Given the description of an element on the screen output the (x, y) to click on. 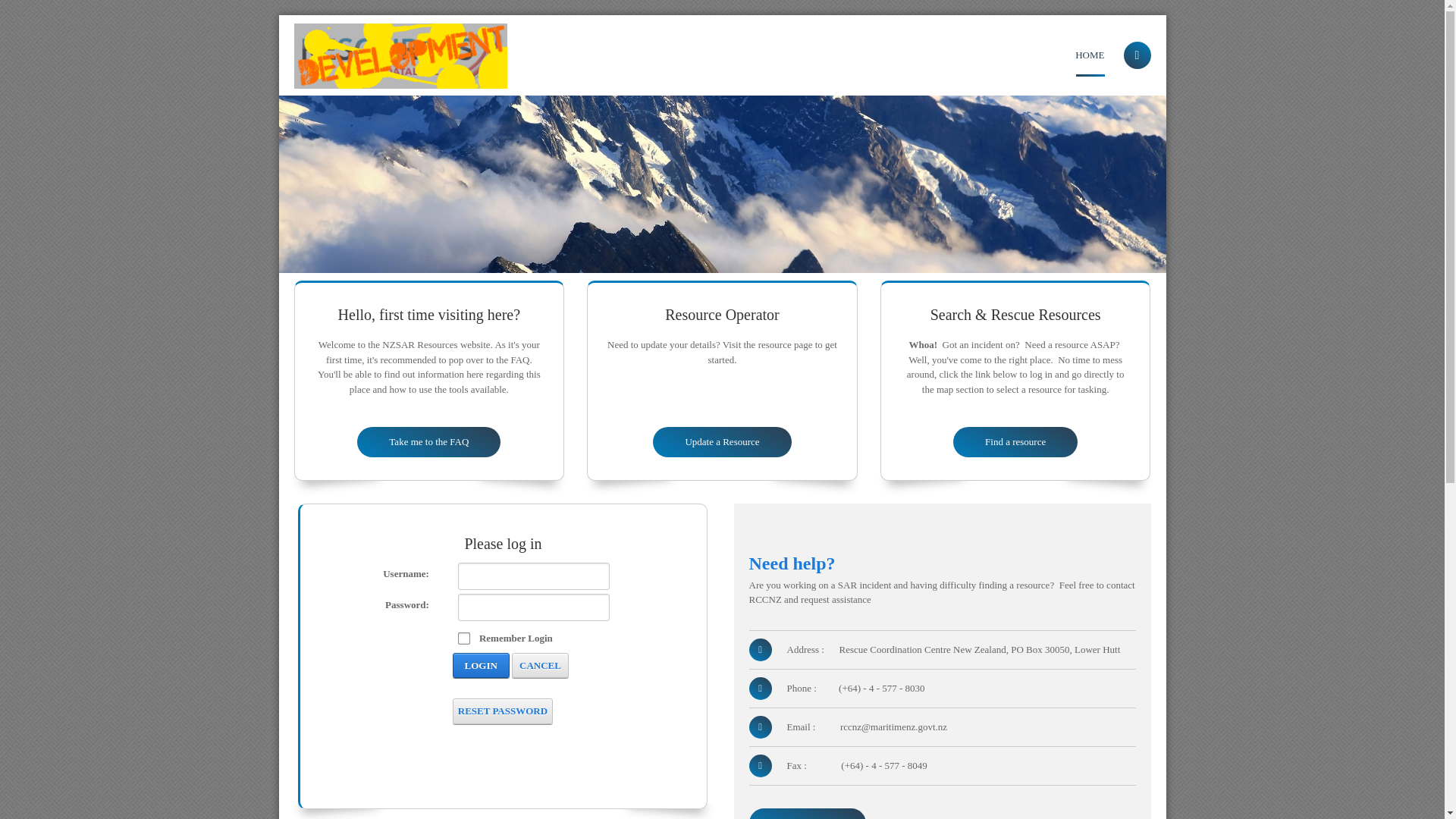
CANCEL (531, 665)
RESET PASSWORD (494, 710)
SEND EMAIL (809, 813)
Take me to the FAQ (417, 441)
Login (479, 665)
NZSAR Resources (401, 54)
LOGIN (470, 665)
